Given the description of an element on the screen output the (x, y) to click on. 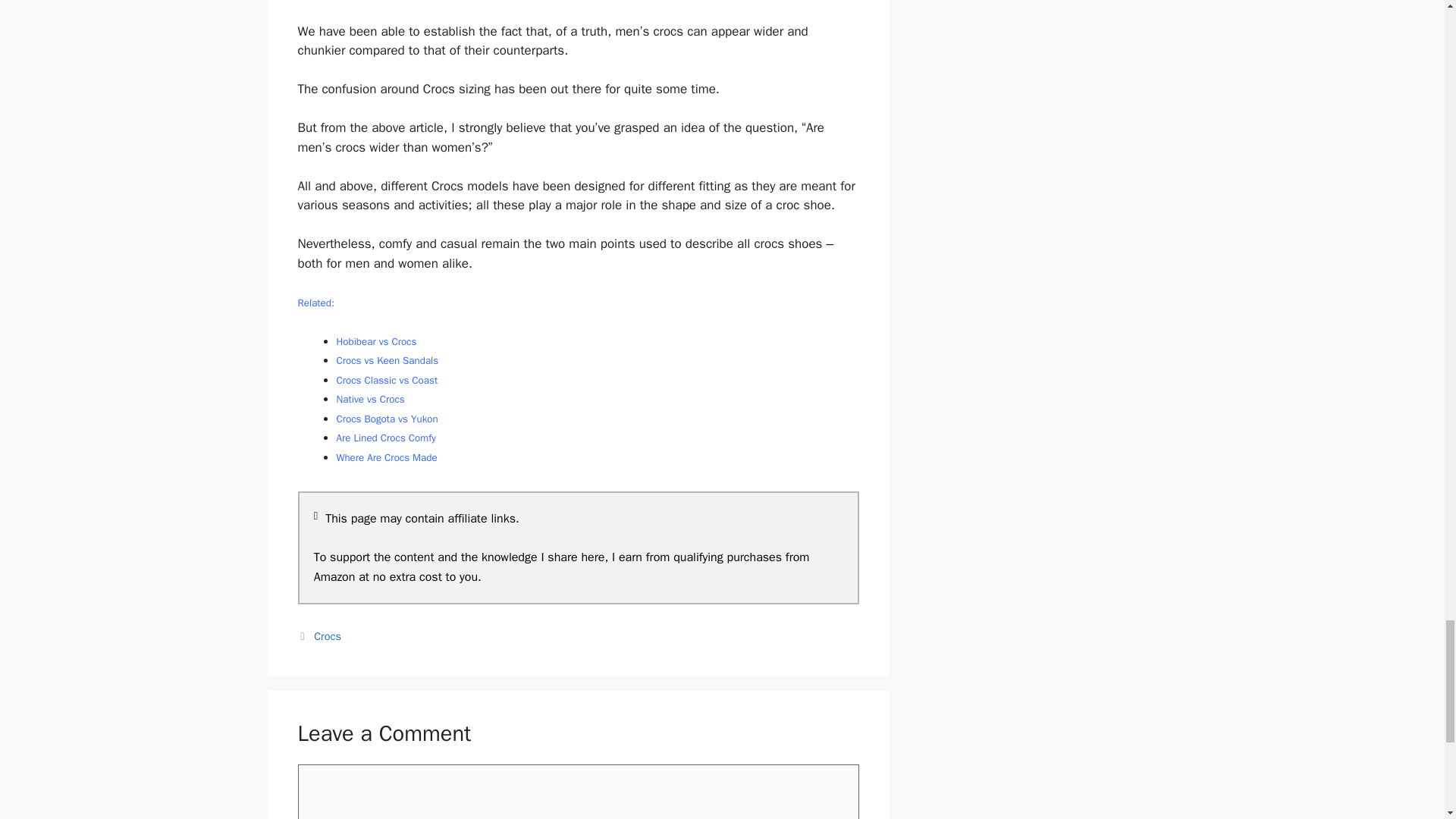
Crocs Bogota vs Yukon (387, 418)
Are Lined Crocs Comfy (385, 437)
Hobibear vs Crocs (376, 341)
Crocs Classic vs Coast (387, 379)
Where Are Crocs Made (387, 457)
Native vs Crocs (370, 399)
Crocs vs Keen Sandals (387, 359)
Crocs (327, 635)
